Given the description of an element on the screen output the (x, y) to click on. 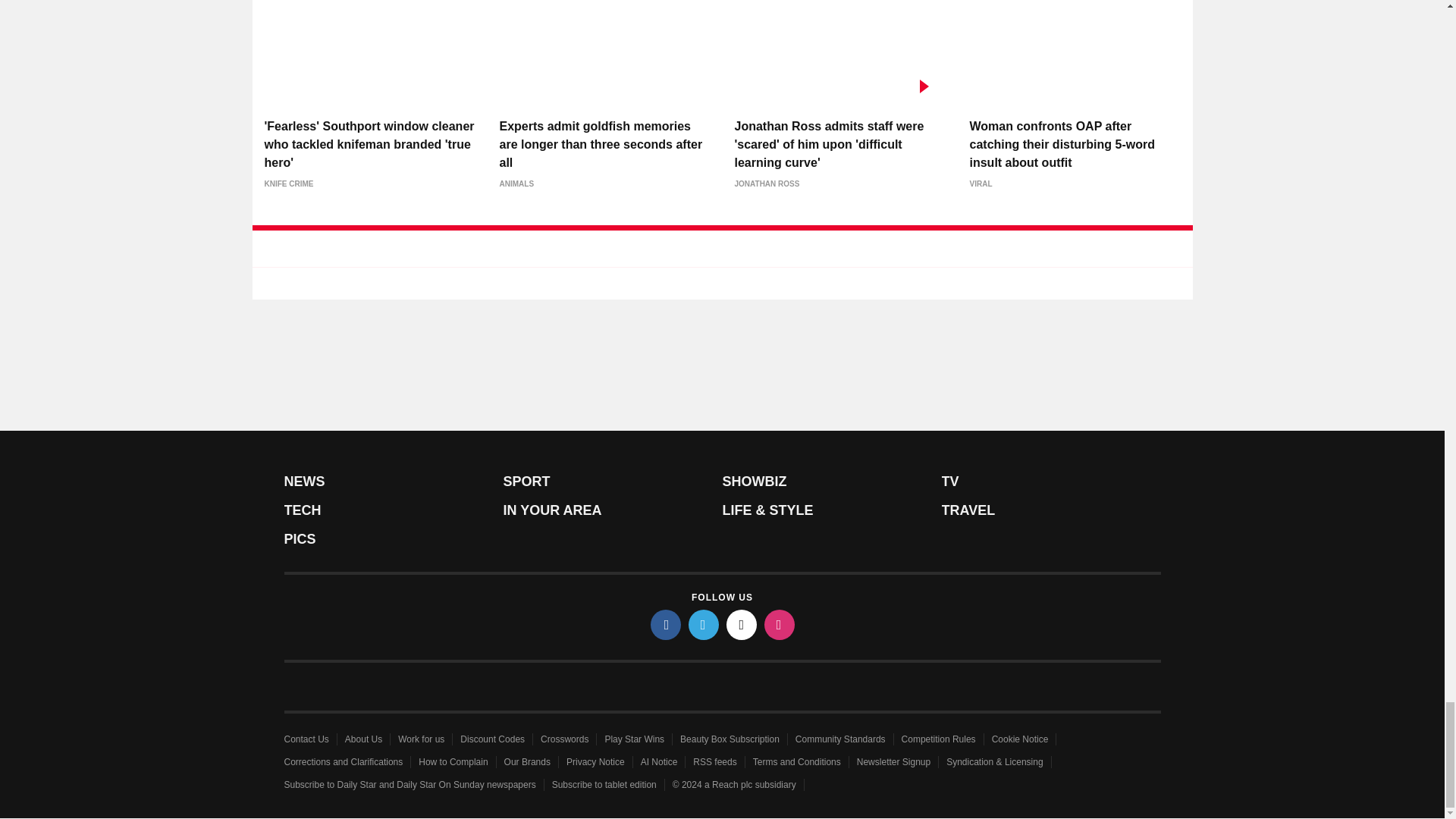
instagram (779, 624)
facebook (665, 624)
tiktok (741, 624)
twitter (703, 624)
